Given the description of an element on the screen output the (x, y) to click on. 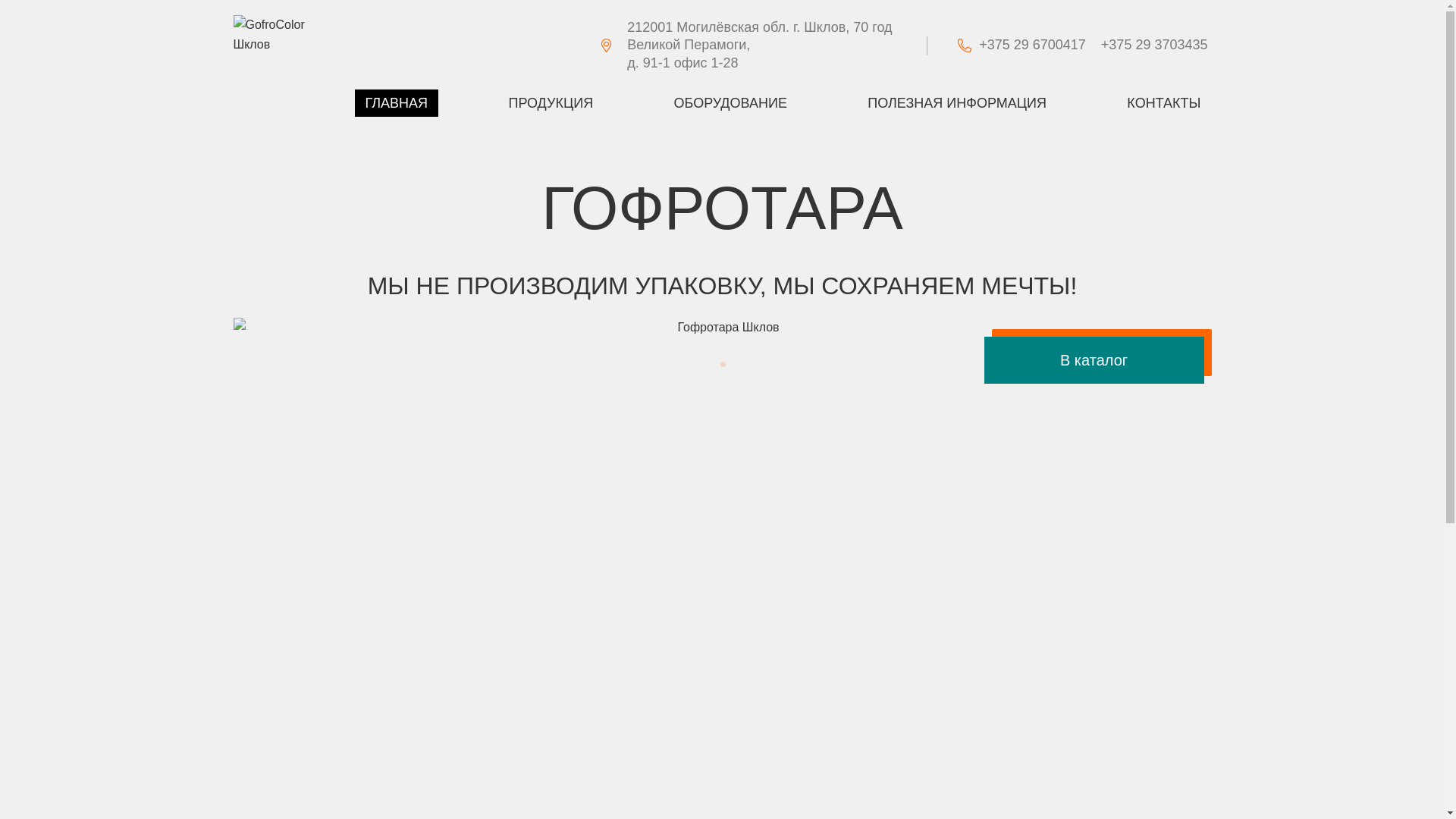
+375 29 3703435 Element type: text (1154, 44)
+375 29 6700417 Element type: text (1040, 44)
